Given the description of an element on the screen output the (x, y) to click on. 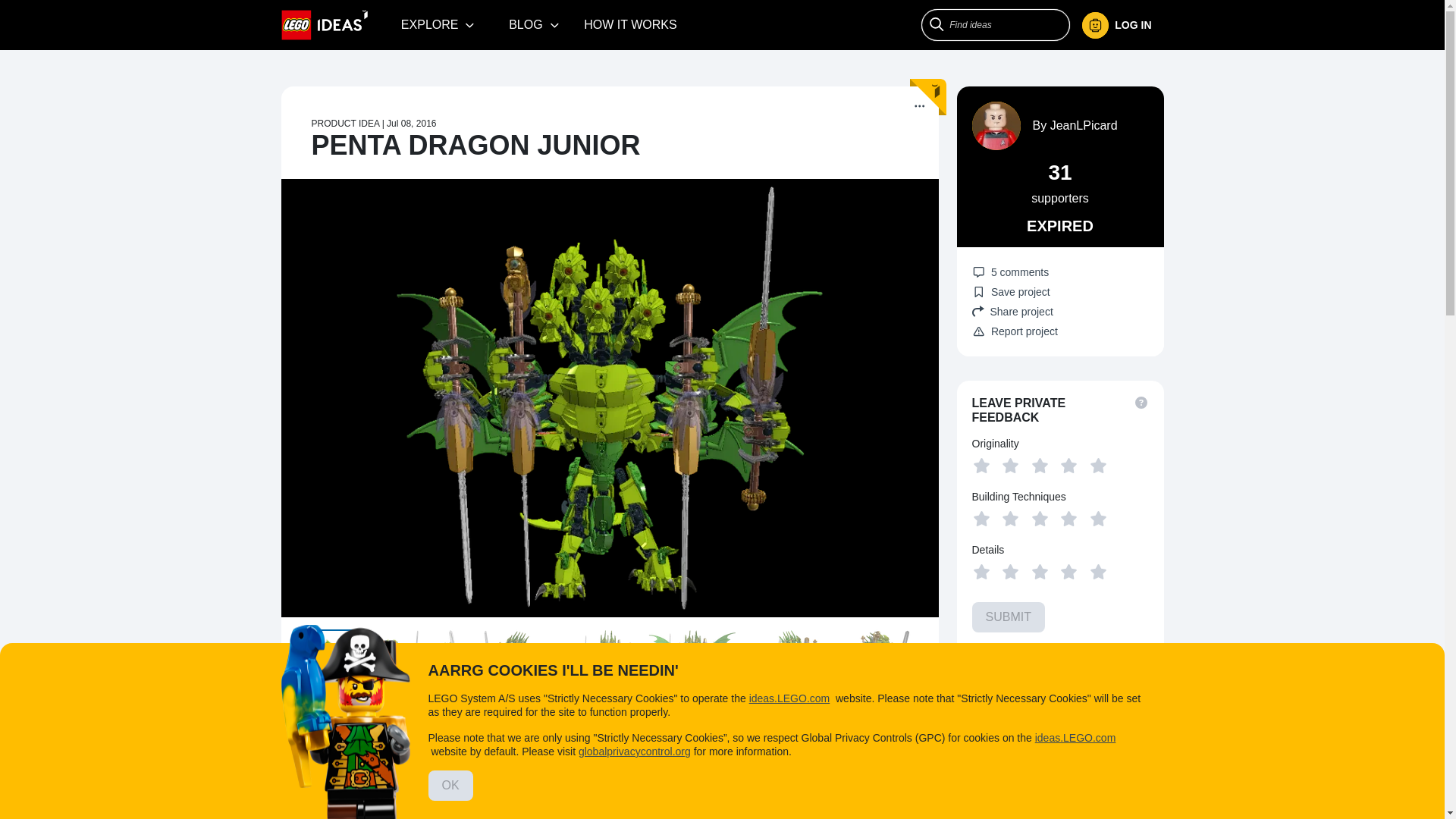
COMMENTS 5 (515, 731)
EXPLORE (437, 24)
LOG IN (1122, 25)
BLOG (534, 24)
JeanLPicard (1083, 124)
Share project (1060, 311)
HOW IT WORKS (630, 24)
STATISTICS (788, 731)
